Given the description of an element on the screen output the (x, y) to click on. 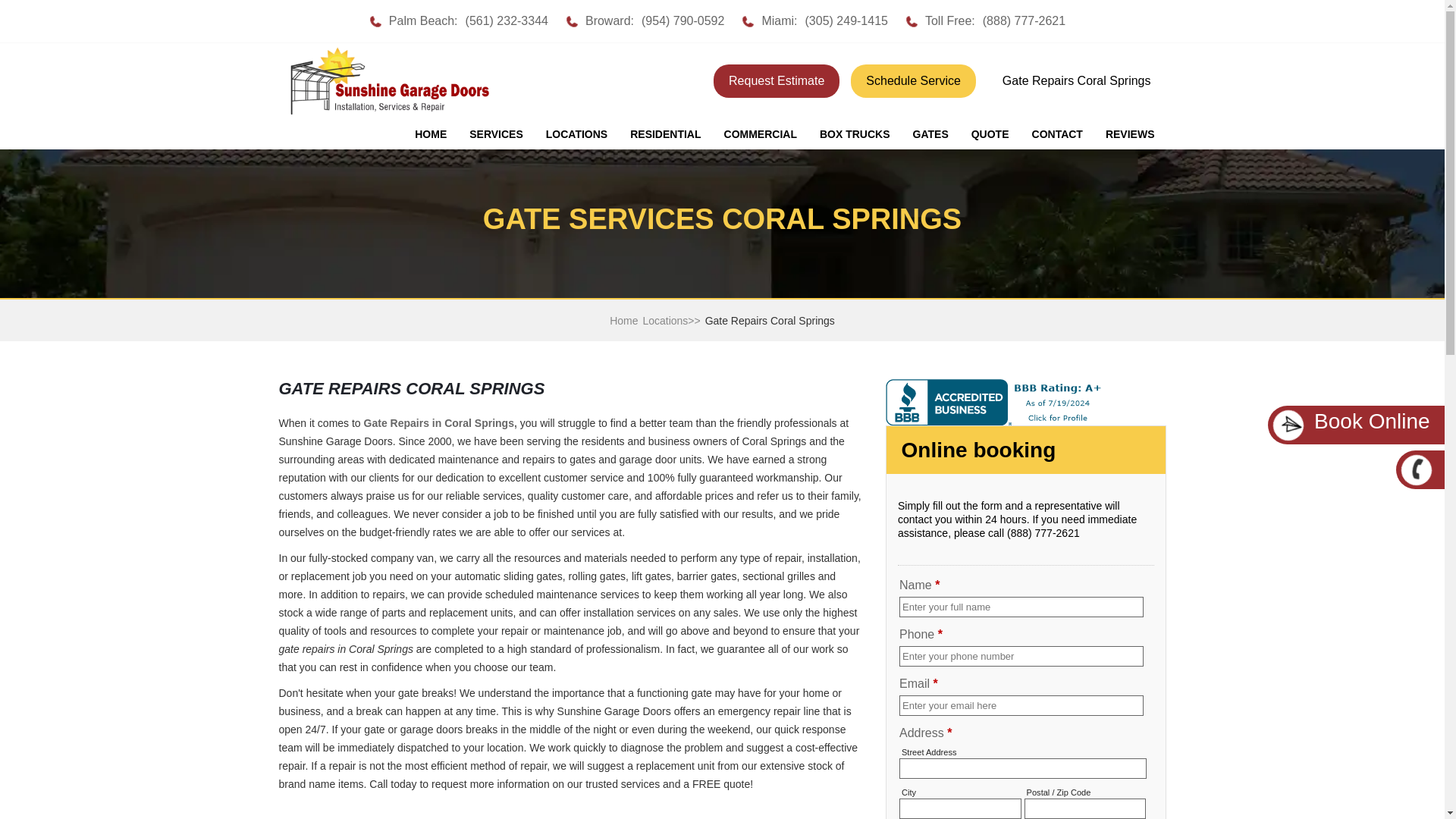
BOX TRUCKS (854, 133)
CONTACT (1057, 133)
COMMERCIAL (759, 133)
HOME (430, 133)
QUOTE (990, 133)
REVIEWS (1129, 133)
RESIDENTIAL (665, 133)
GATES (930, 133)
Request Estimate (776, 80)
SERVICES (495, 133)
Schedule Service (912, 80)
LOCATIONS (576, 133)
